Given the description of an element on the screen output the (x, y) to click on. 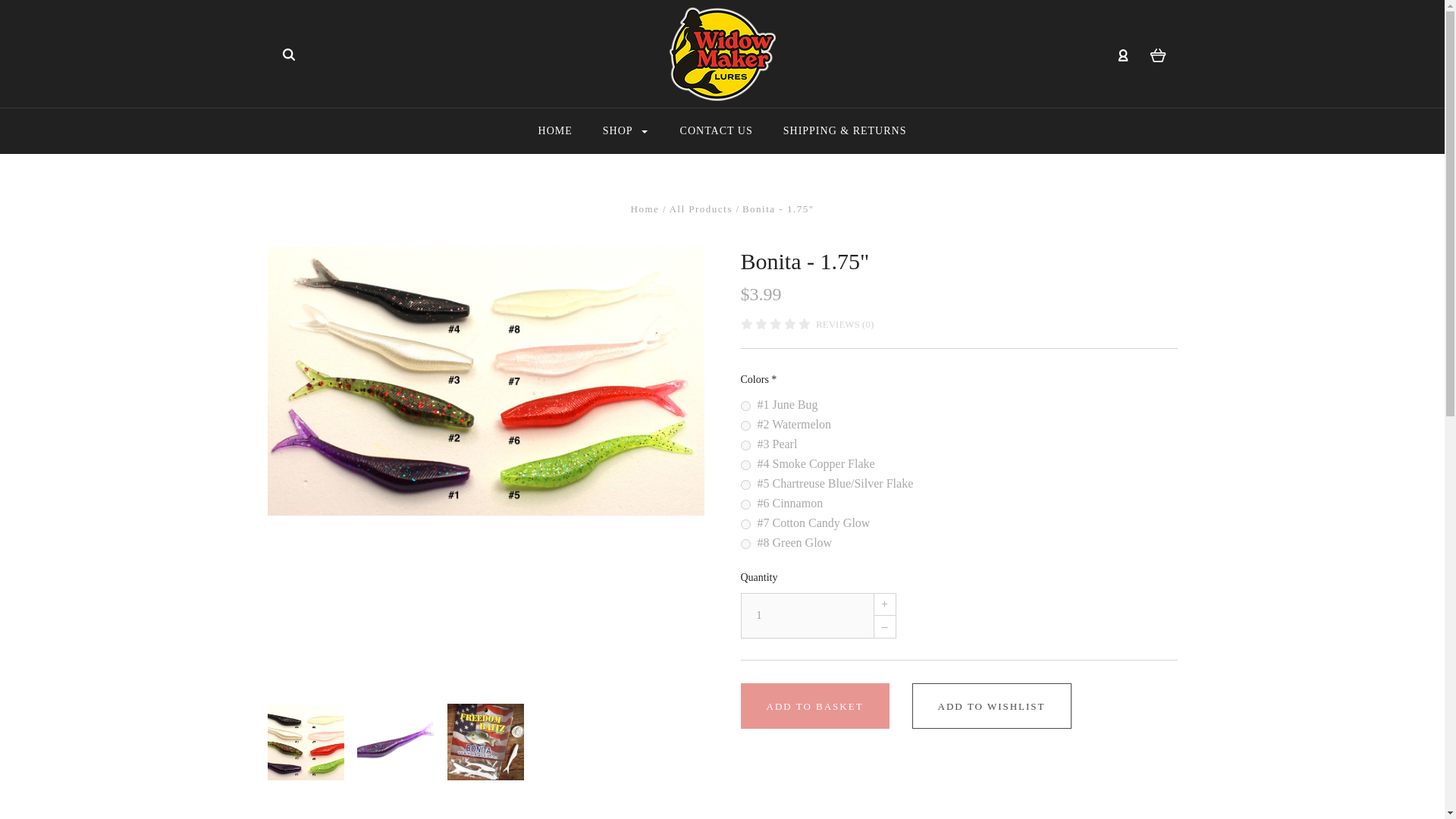
Bonita - 1.75" (484, 380)
All Products (701, 208)
527 (744, 524)
1 (805, 615)
526 (744, 504)
Bonita - 1.75" (305, 741)
522 (744, 425)
524 (744, 465)
Bonita - 1.75" (485, 741)
ADD TO WISHLIST (991, 705)
Bonita - 1.75" (394, 741)
525 (744, 484)
528 (744, 543)
ADD TO BASKET (813, 705)
Home (646, 208)
